Given the description of an element on the screen output the (x, y) to click on. 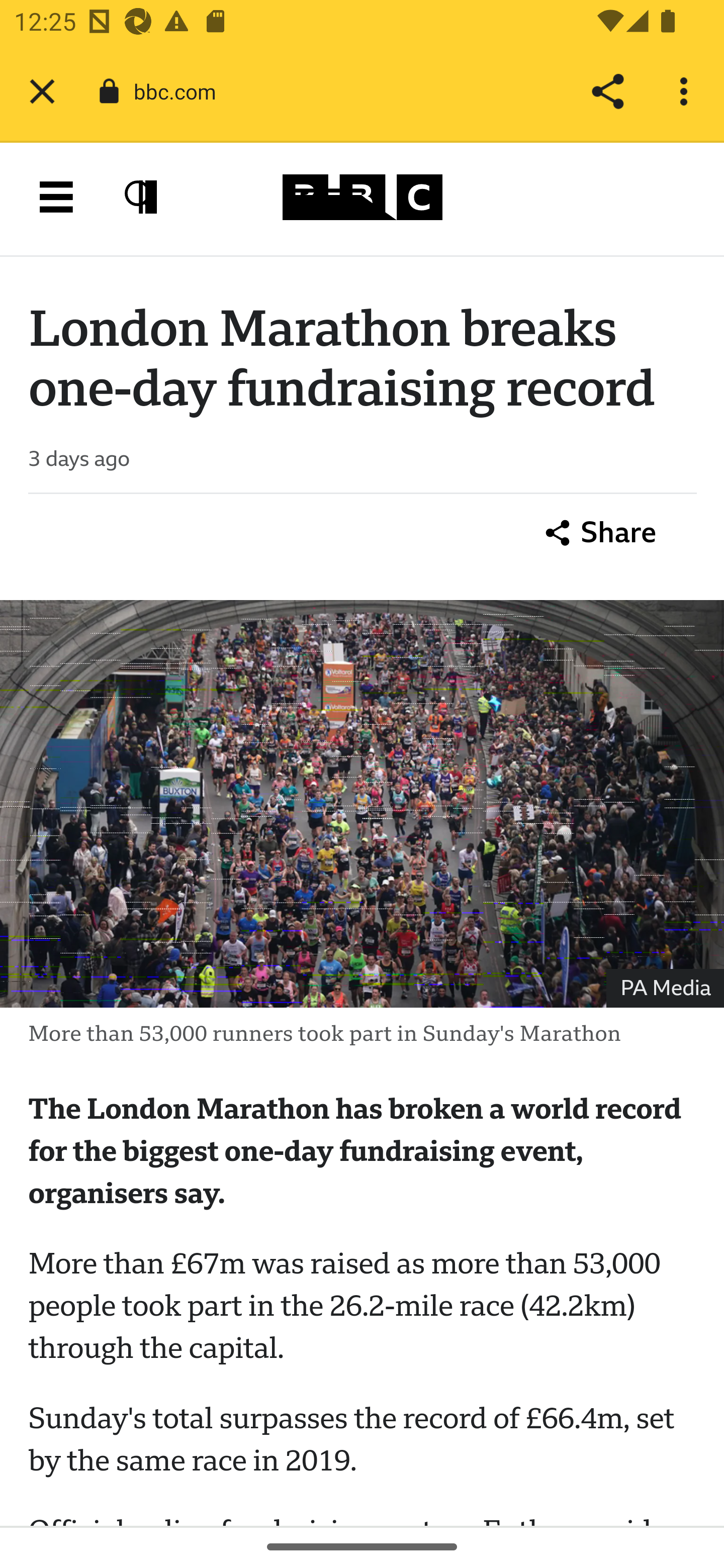
Close tab (42, 91)
Share (607, 91)
More options (687, 91)
Connection is secure (108, 91)
bbc.com (181, 90)
www.bbc (362, 196)
Share (601, 533)
